Given the description of an element on the screen output the (x, y) to click on. 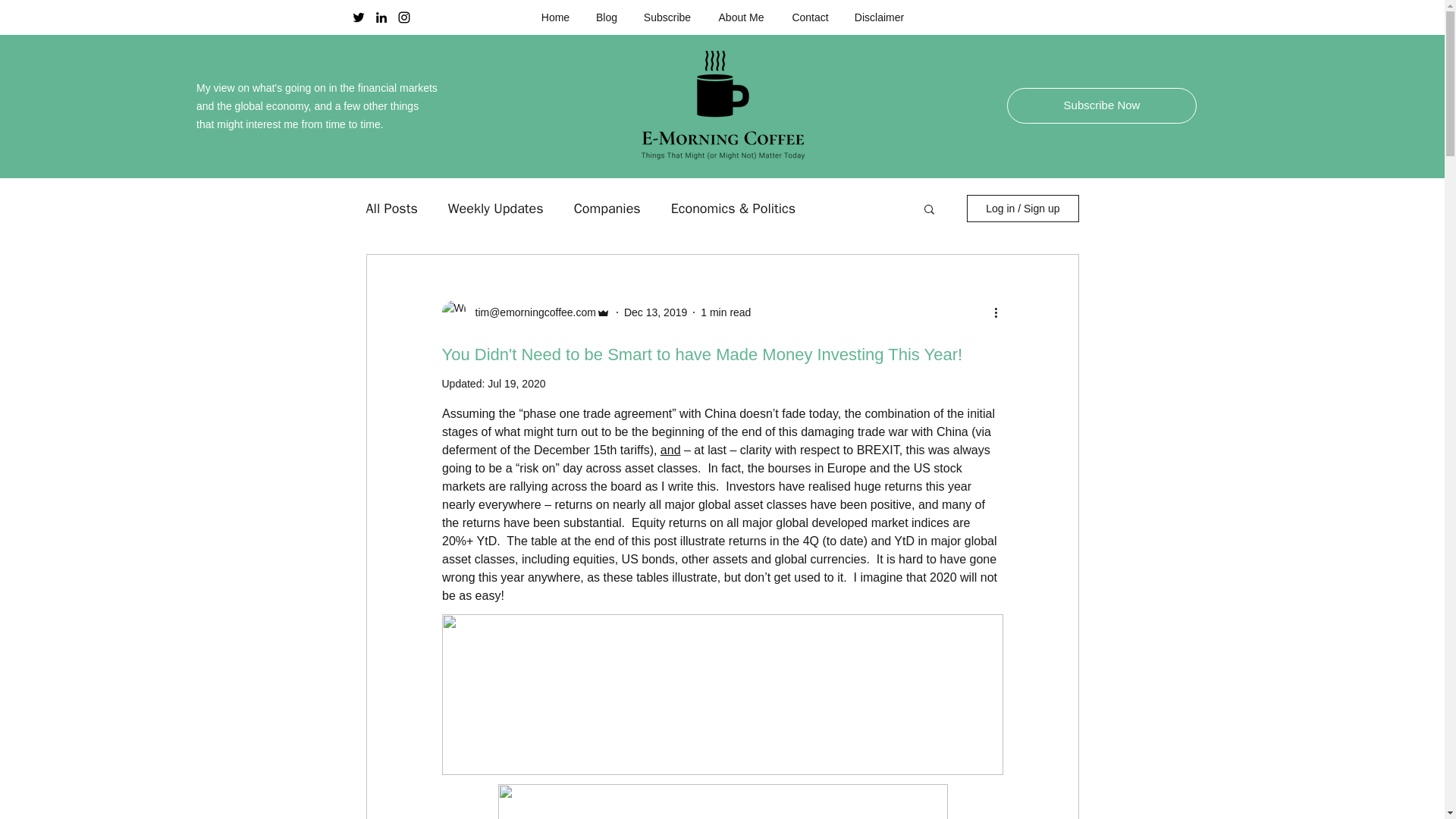
Blog (606, 17)
Dec 13, 2019 (655, 312)
Home (554, 17)
Subscribe Now (1101, 105)
Contact (809, 17)
Disclaimer (878, 17)
About Me (740, 17)
Companies (606, 208)
1 min read (725, 312)
All Posts (390, 208)
Jul 19, 2020 (515, 383)
Subscribe (667, 17)
Weekly Updates (495, 208)
